Given the description of an element on the screen output the (x, y) to click on. 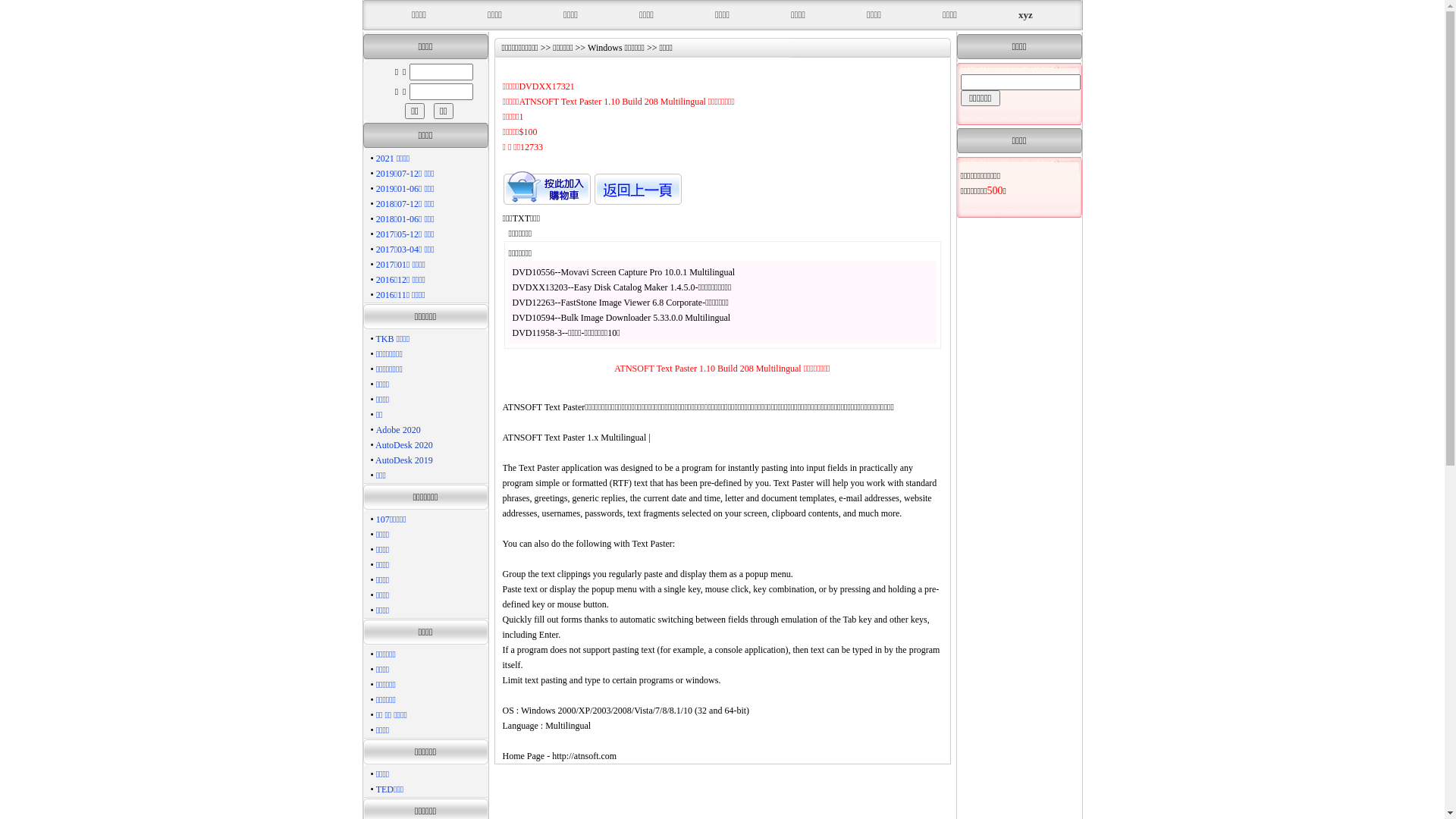
Adobe 2020 Element type: text (398, 429)
AutoDesk 2019 Element type: text (404, 460)
DVD10556--Movavi Screen Capture Pro 10.0.1 Multilingual Element type: text (623, 271)
xyz Element type: text (1025, 14)
DVD10594--Bulk Image Downloader 5.33.0.0 Multilingual Element type: text (621, 317)
AutoDesk 2020 Element type: text (404, 444)
